Given the description of an element on the screen output the (x, y) to click on. 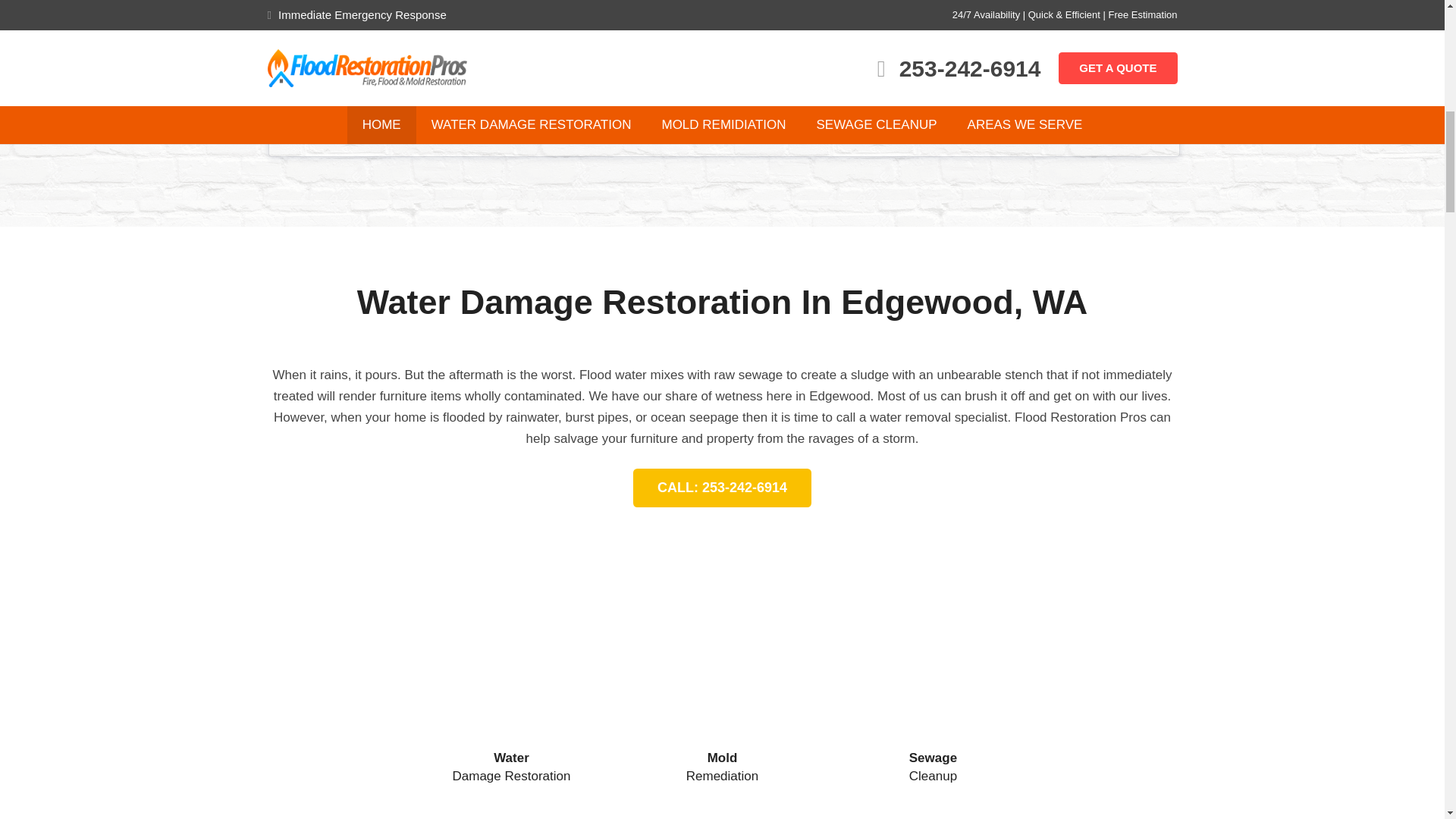
Back to top (1413, 34)
Request a Call Back Now (723, 120)
CALL: 253-242-6914 (722, 487)
